Given the description of an element on the screen output the (x, y) to click on. 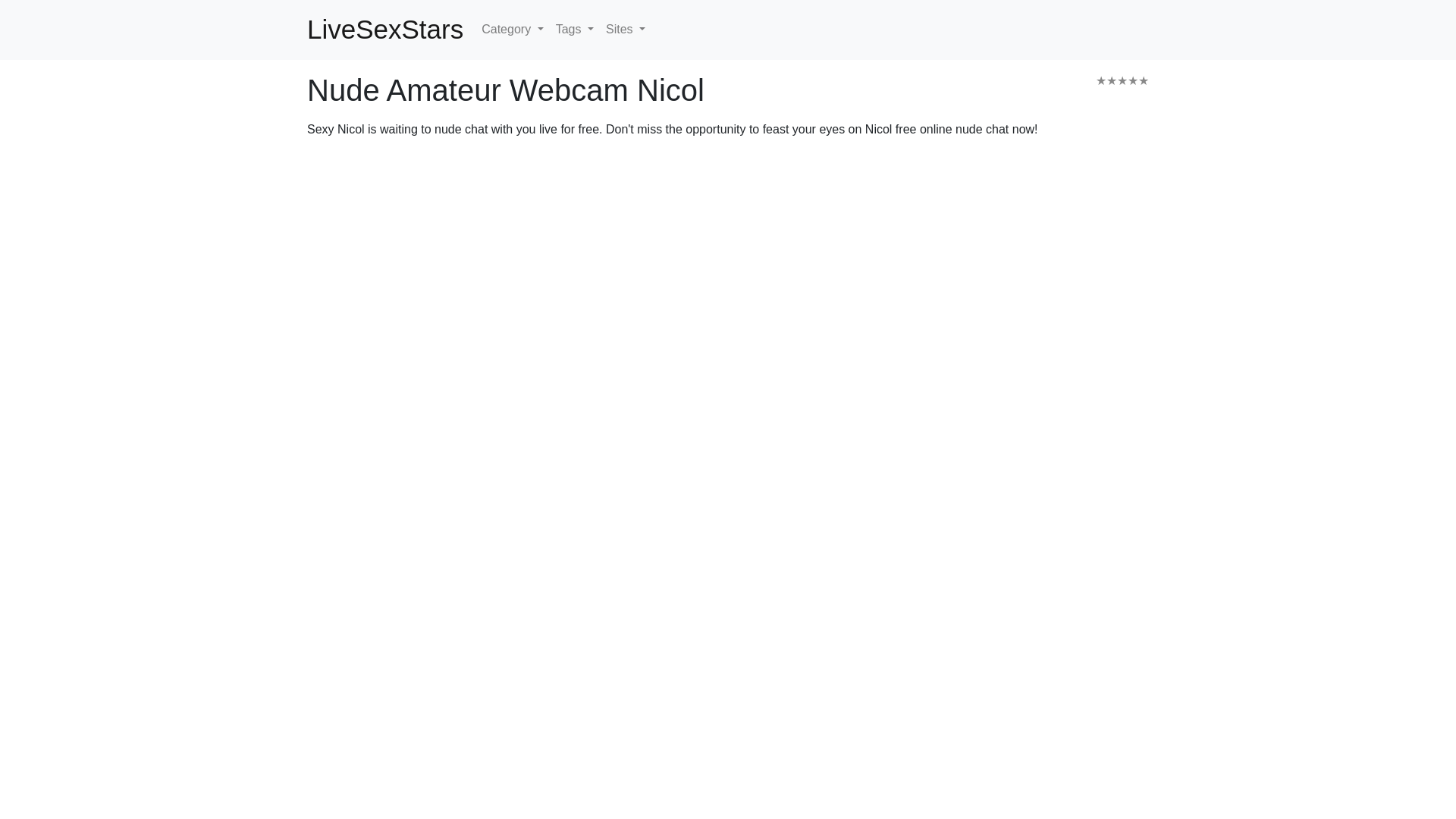
Category (512, 29)
Sites (624, 29)
LiveSexStars (385, 29)
Tags (574, 29)
